Given the description of an element on the screen output the (x, y) to click on. 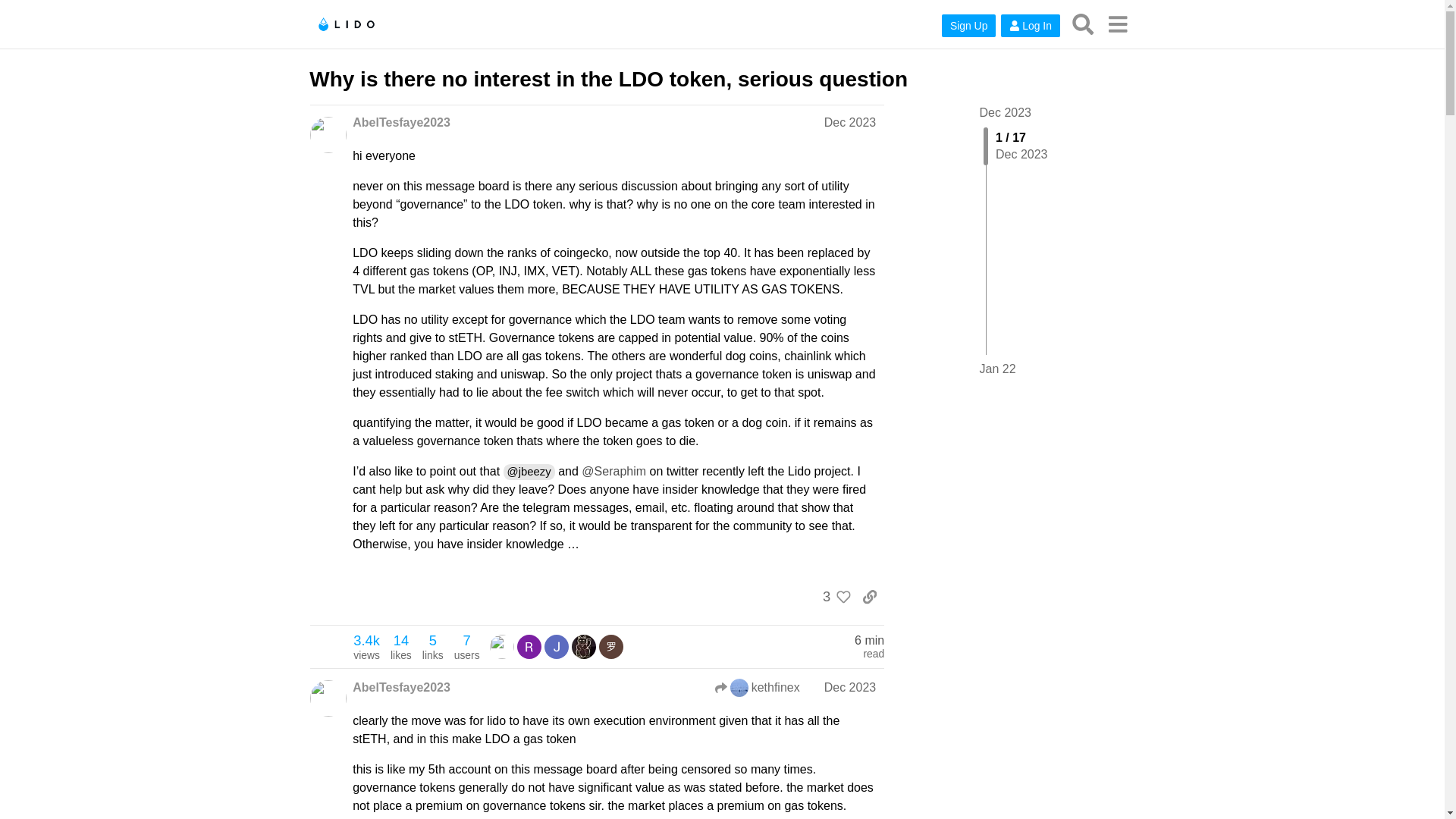
Jan 22 (997, 369)
AbelTesfaye2023 (400, 687)
Dec 2023 (850, 686)
Sign Up (968, 25)
Dec 2023 (850, 122)
3 people liked this post (466, 646)
menu (832, 596)
Search (1117, 23)
AbelTesfaye2023 (1082, 23)
